Given the description of an element on the screen output the (x, y) to click on. 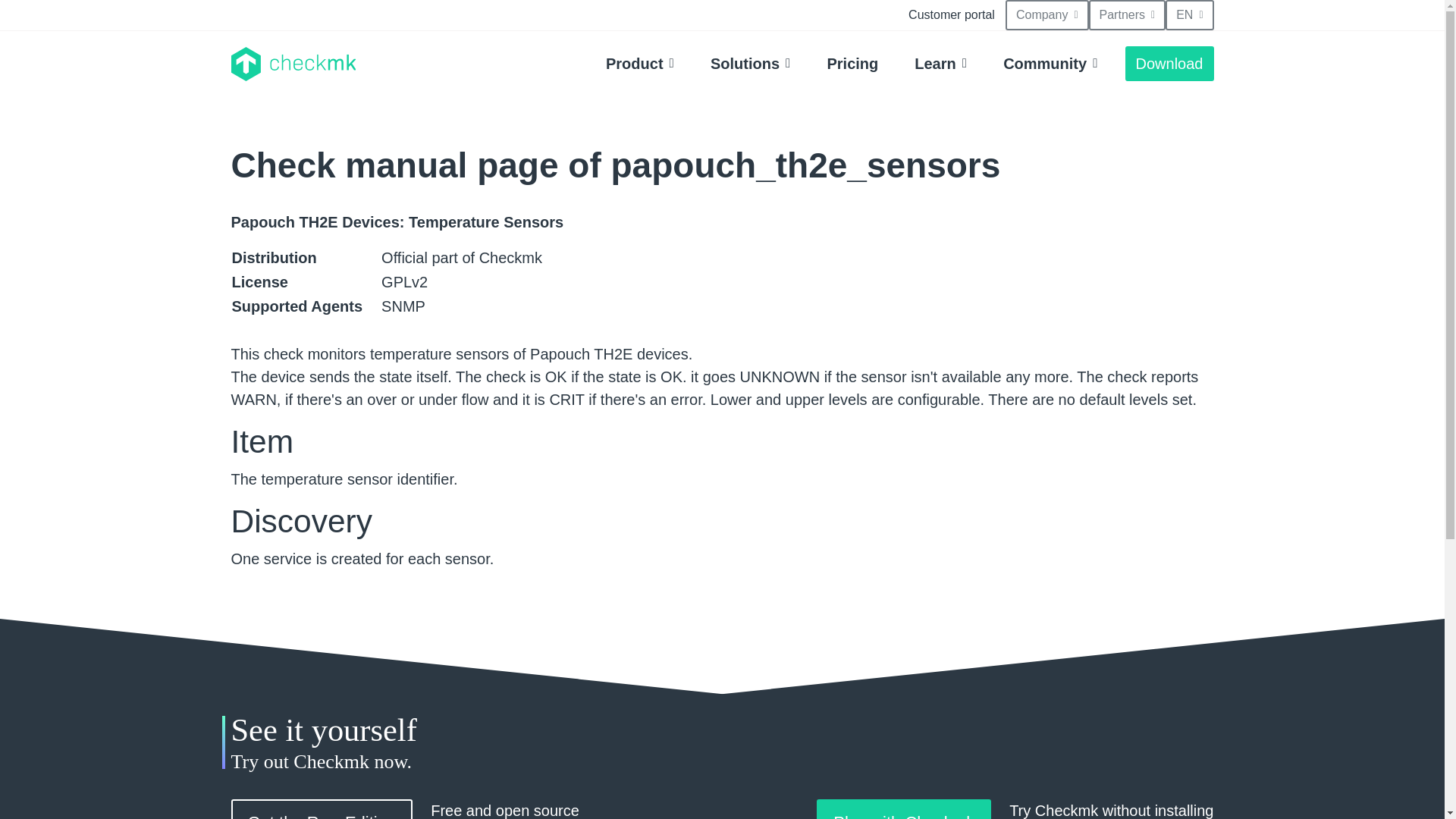
Company (1047, 15)
Partners (1127, 15)
Product (639, 63)
Checkmk (292, 63)
EN (1189, 15)
Solutions (750, 63)
Customer portal (952, 15)
